Given the description of an element on the screen output the (x, y) to click on. 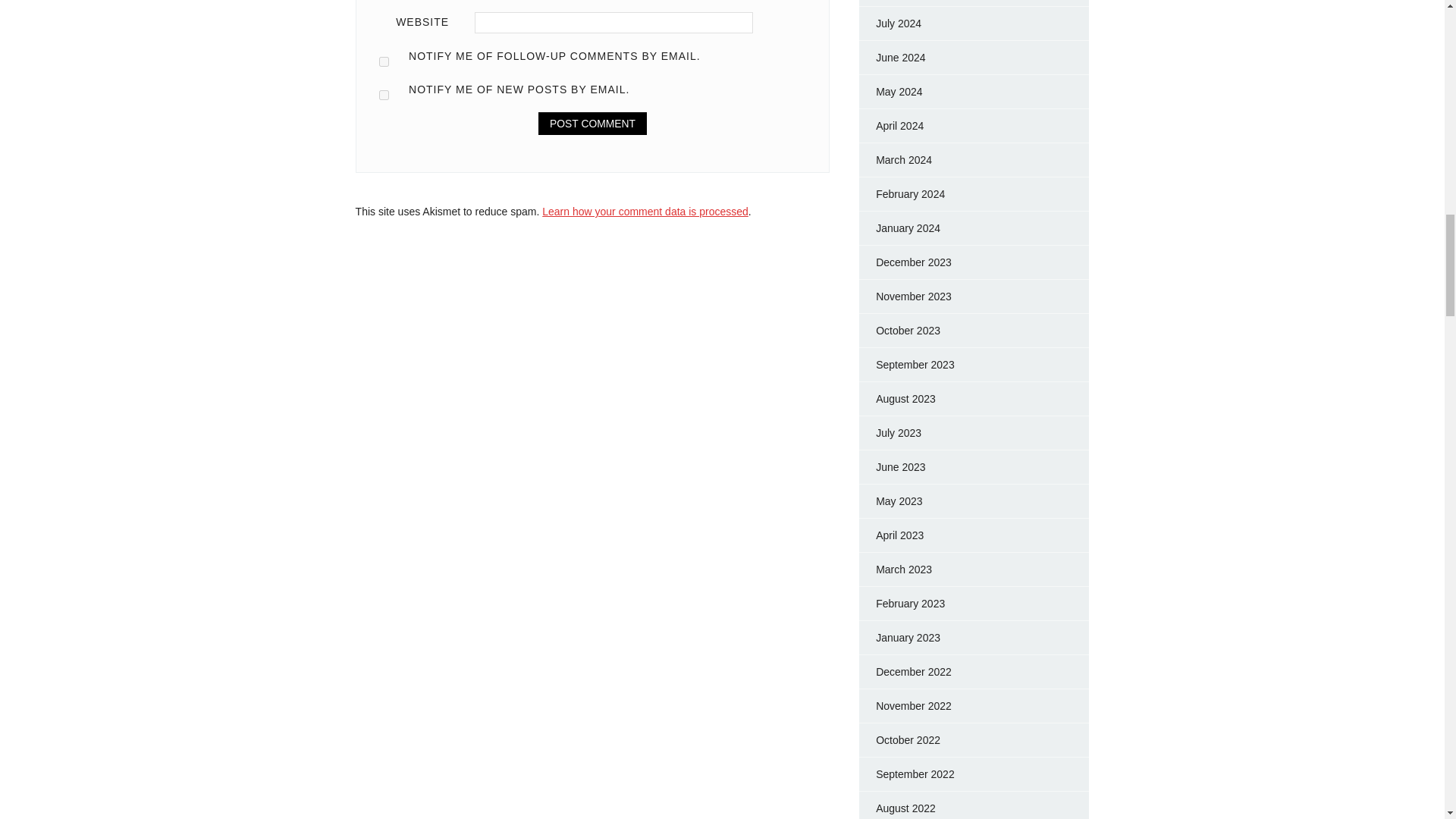
subscribe (383, 61)
Post Comment (592, 123)
Post Comment (592, 123)
Learn how your comment data is processed (644, 211)
subscribe (383, 94)
